Given the description of an element on the screen output the (x, y) to click on. 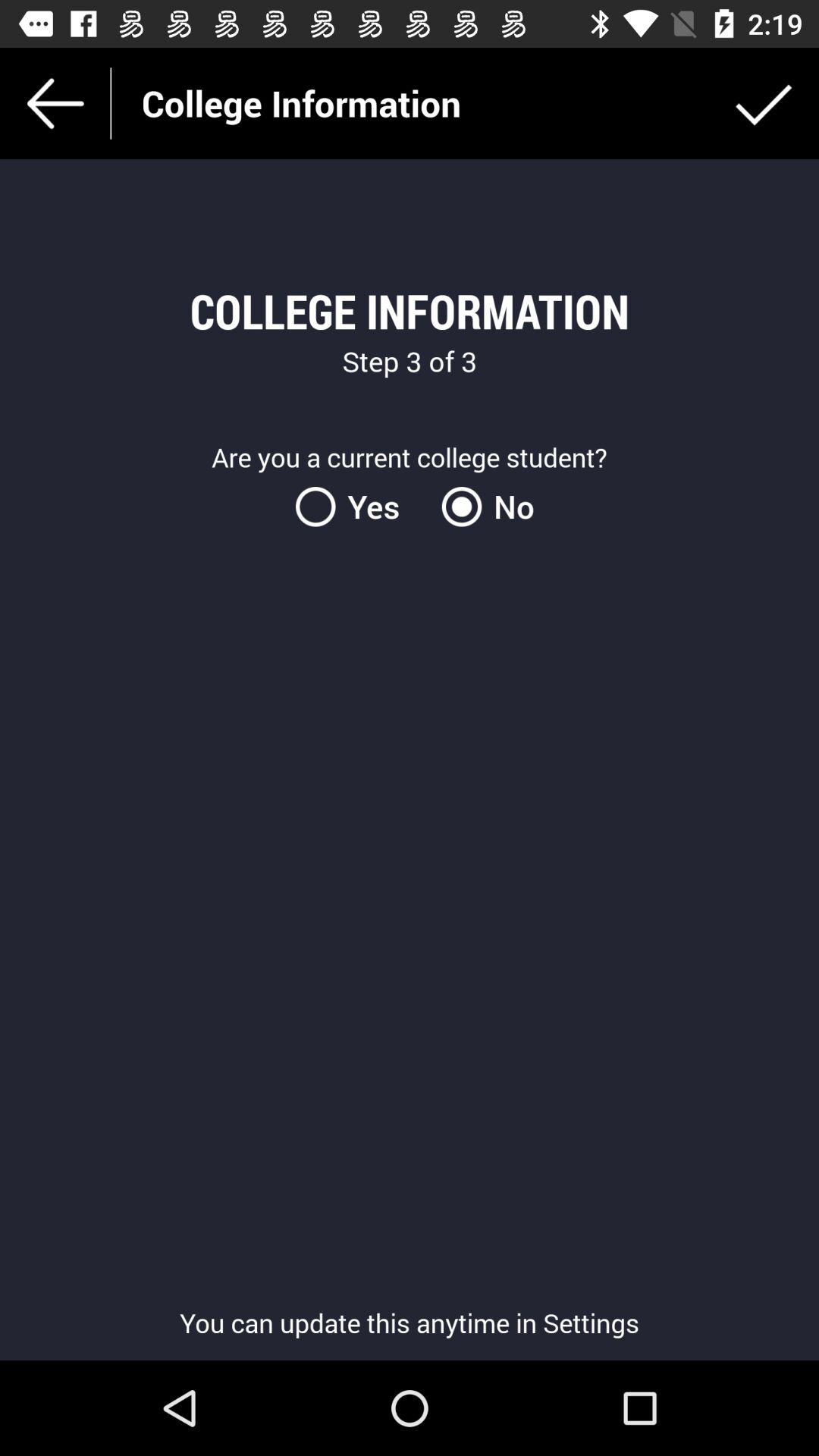
select the icon below are you a item (356, 506)
